Given the description of an element on the screen output the (x, y) to click on. 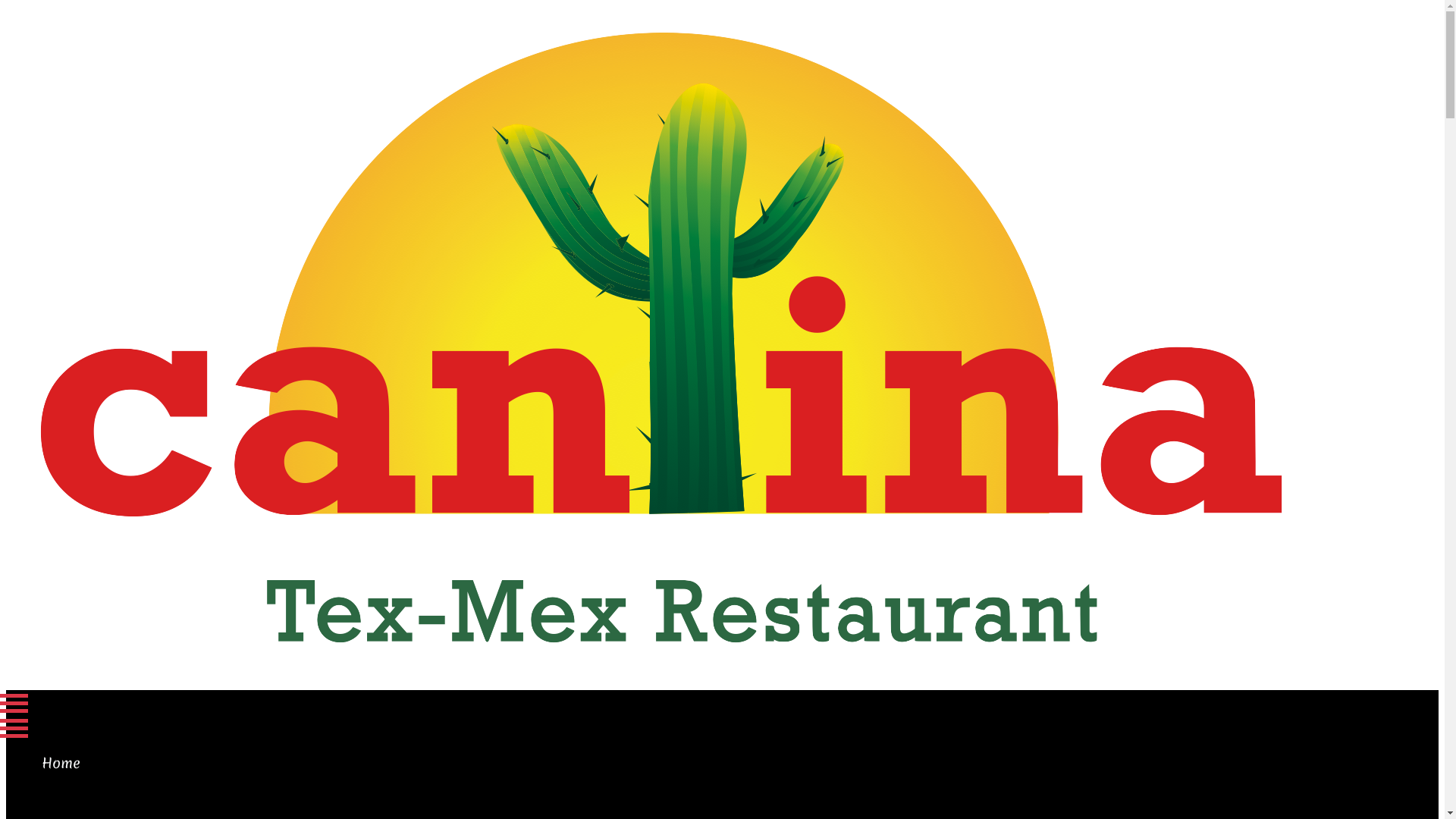
Menu Element type: hover (14, 727)
Home Element type: text (60, 762)
Menu Element type: hover (70, 702)
